Given the description of an element on the screen output the (x, y) to click on. 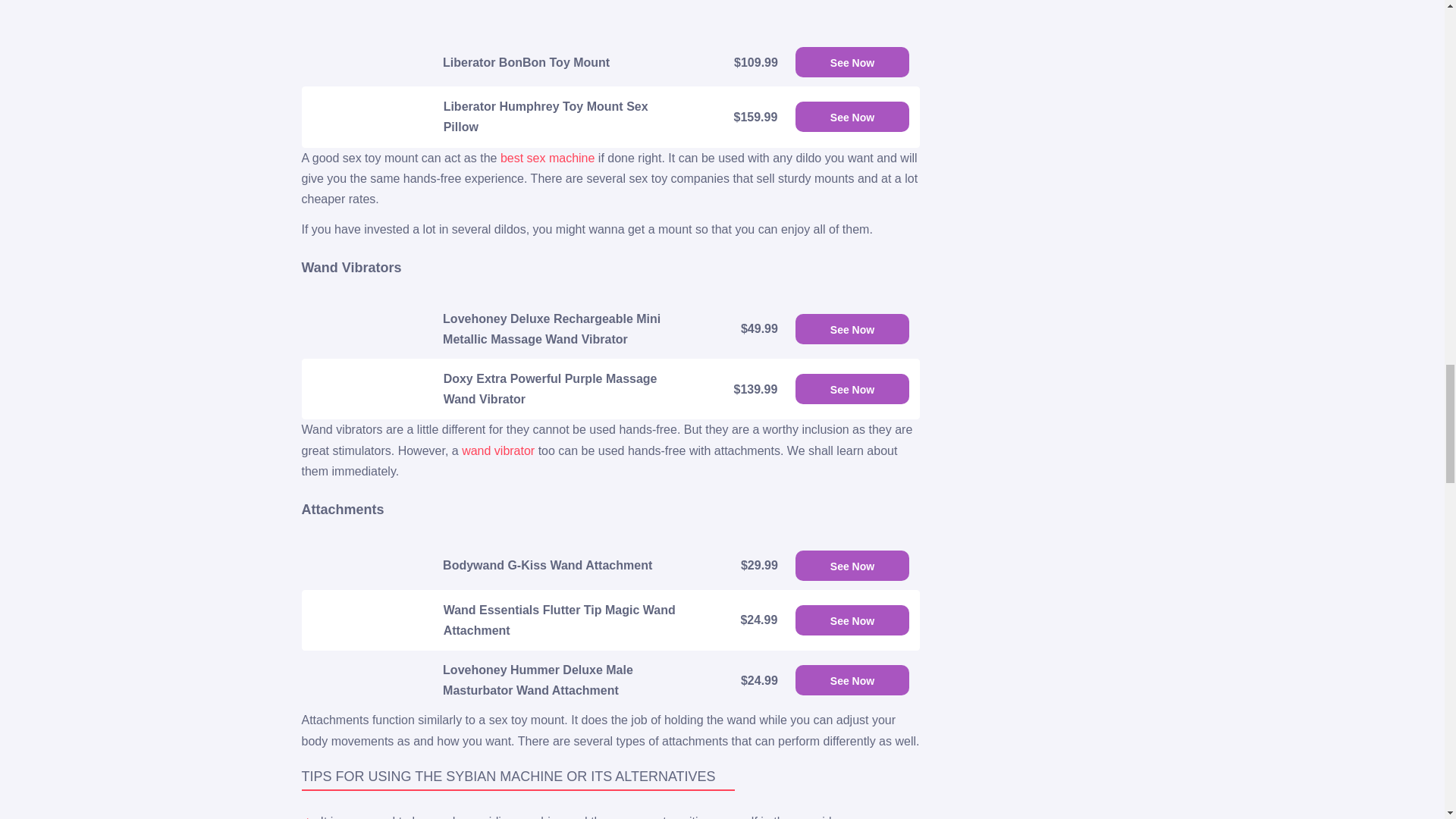
See Now (851, 680)
See Now (851, 565)
See Now (851, 620)
best sex machine (547, 157)
See Now (851, 388)
See Now (851, 328)
wand vibrator (497, 450)
See Now (851, 61)
DIY Sybian Solution (797, 17)
See Now (851, 116)
